Given the description of an element on the screen output the (x, y) to click on. 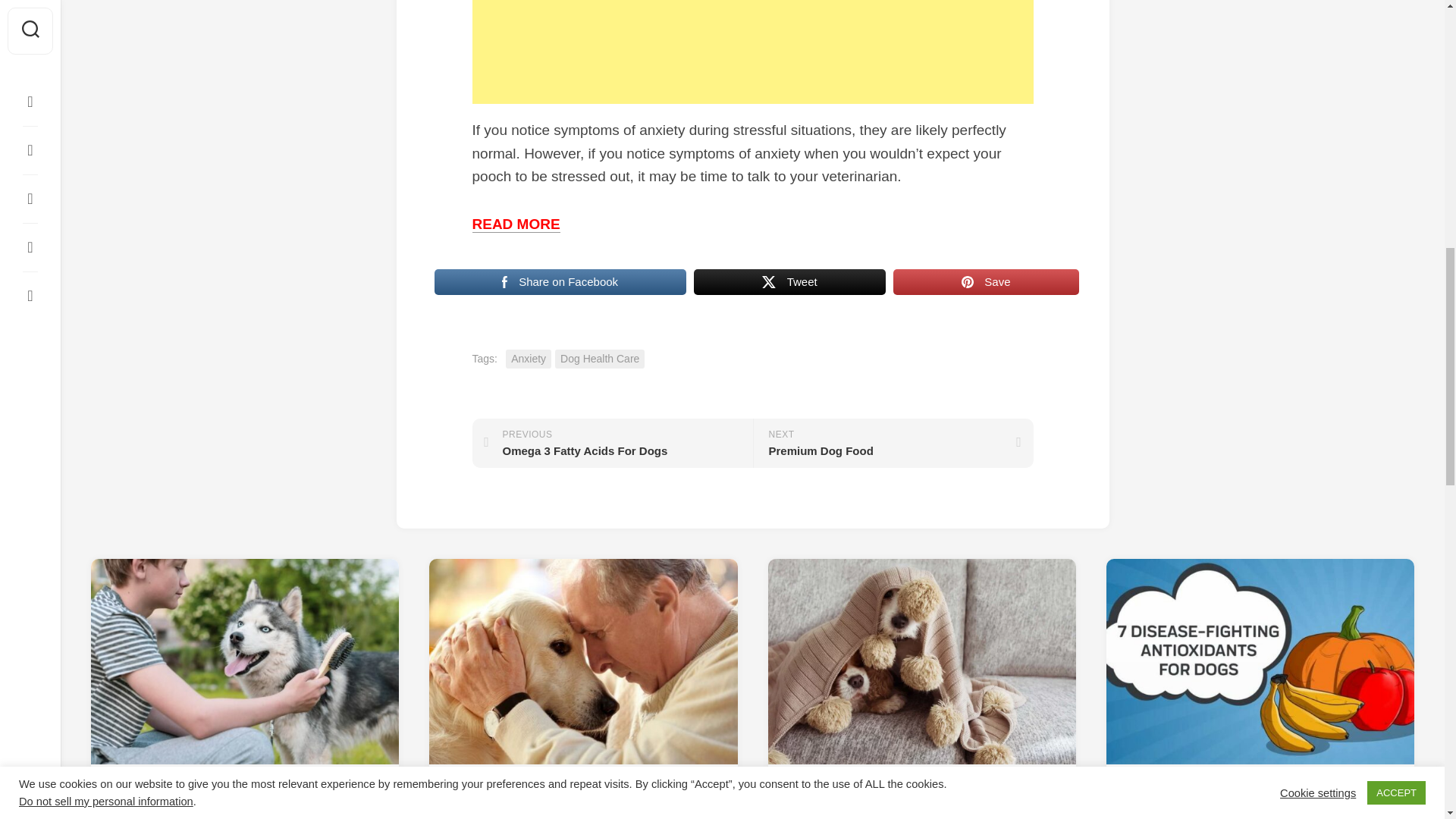
Save (985, 281)
Dog Health Care (599, 358)
Advertisement (751, 52)
Tweet (611, 442)
READ MORE (892, 442)
Anxiety (789, 281)
Dog Shedding 101: Why Is My Dog Losing Hair? (515, 223)
Share on Facebook (528, 358)
